Given the description of an element on the screen output the (x, y) to click on. 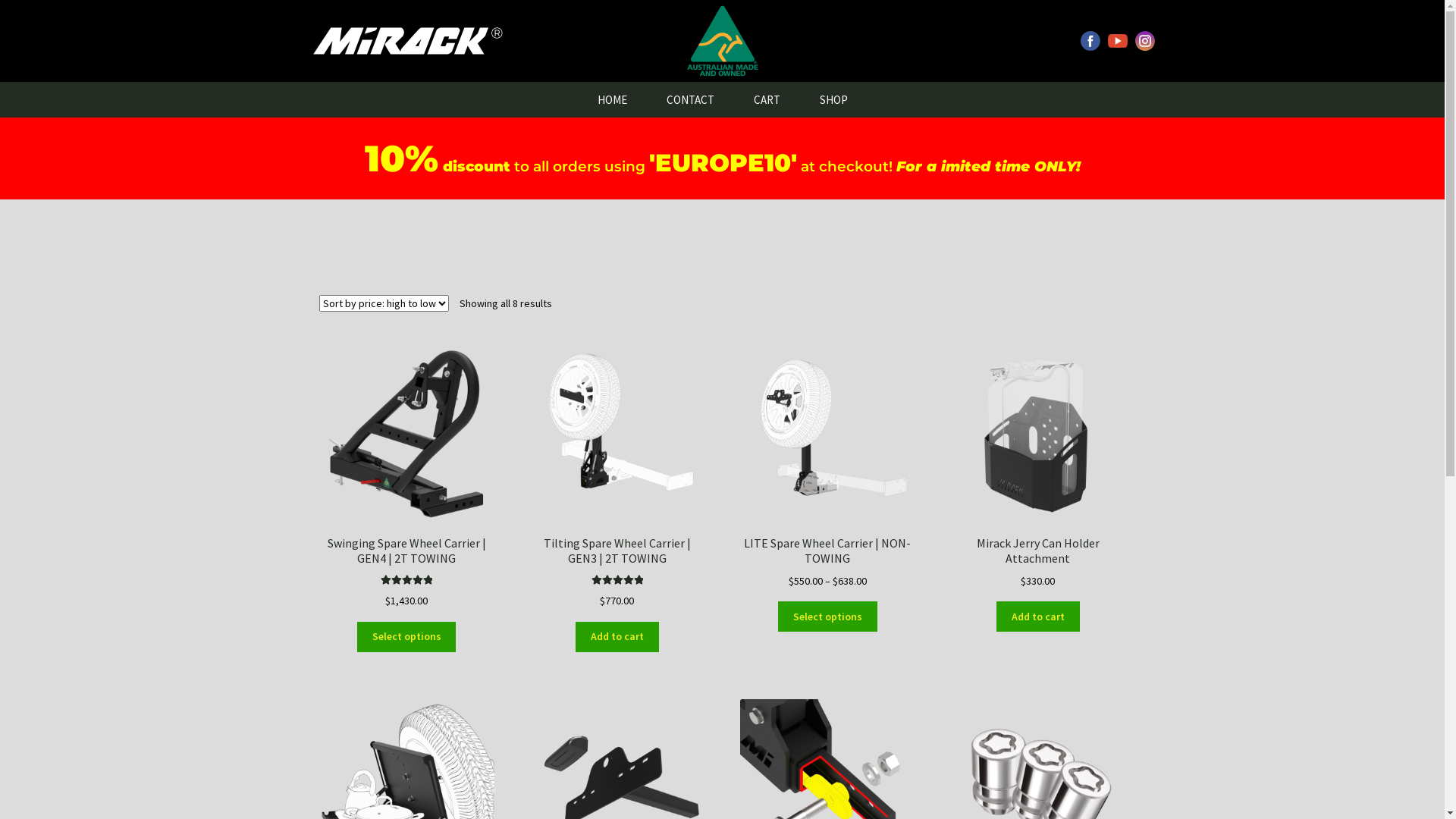
Select options Element type: text (406, 636)
Facebook Element type: hover (1090, 40)
Add to cart Element type: text (1037, 616)
mirack white - reg Element type: hover (403, 40)
Select options Element type: text (827, 616)
Instagram Element type: hover (1144, 40)
CONTACT Element type: text (689, 99)
SHOP Element type: text (832, 99)
HOME Element type: text (611, 99)
NO WHITE AUSSIE MADE Element type: hover (721, 40)
Add to cart Element type: text (616, 636)
CART Element type: text (767, 99)
Mirack Jerry Can Holder Attachment
$330.00 Element type: text (1037, 466)
Mirack Youtube Element type: hover (1117, 40)
